Given the description of an element on the screen output the (x, y) to click on. 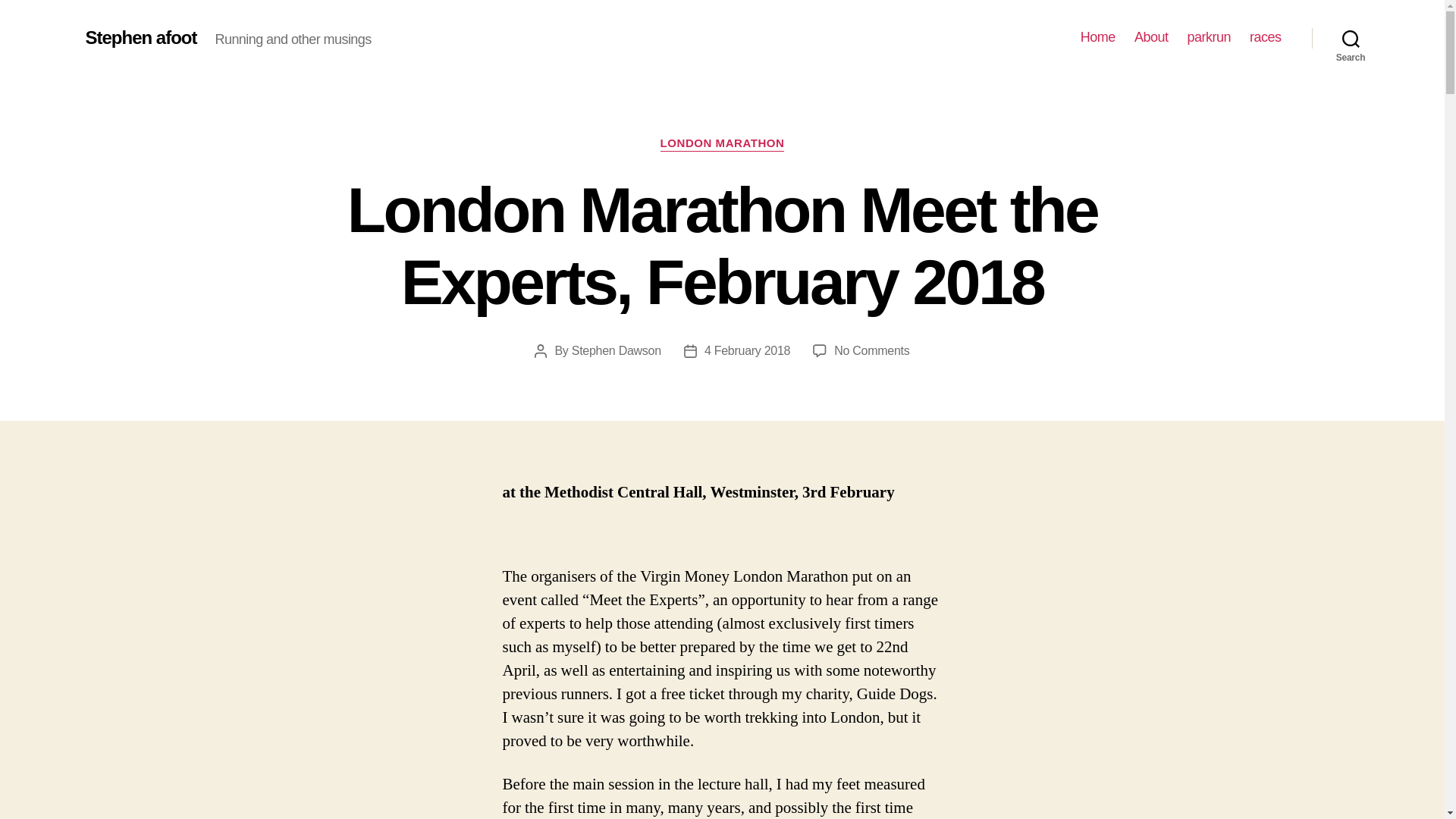
4 February 2018 (747, 350)
races (1265, 37)
parkrun (1208, 37)
Stephen afoot (140, 37)
LONDON MARATHON (722, 143)
Stephen Dawson (616, 350)
Search (1350, 37)
About (1151, 37)
Home (1097, 37)
